Given the description of an element on the screen output the (x, y) to click on. 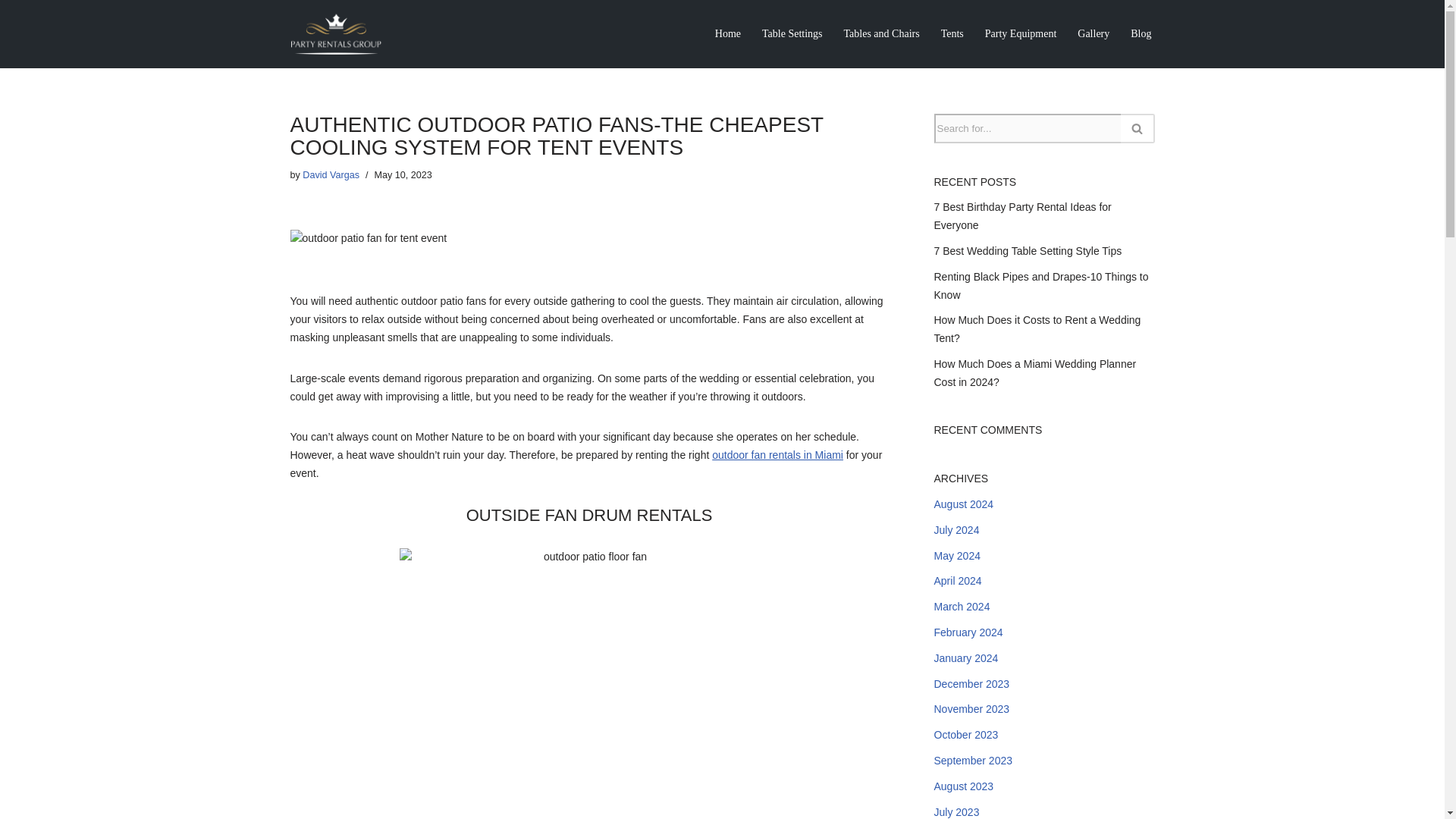
January 2024 (966, 657)
How Much Does a Miami Wedding Planner Cost in 2024? (1035, 372)
David Vargas (330, 174)
Table Settings (791, 33)
Home (727, 33)
Skip to content (11, 31)
outdoor fan rentals in Miami (777, 454)
Gallery (1093, 33)
Renting Black Pipes and Drapes-10 Things to Know (1041, 286)
Party Equipment (1021, 33)
